Given the description of an element on the screen output the (x, y) to click on. 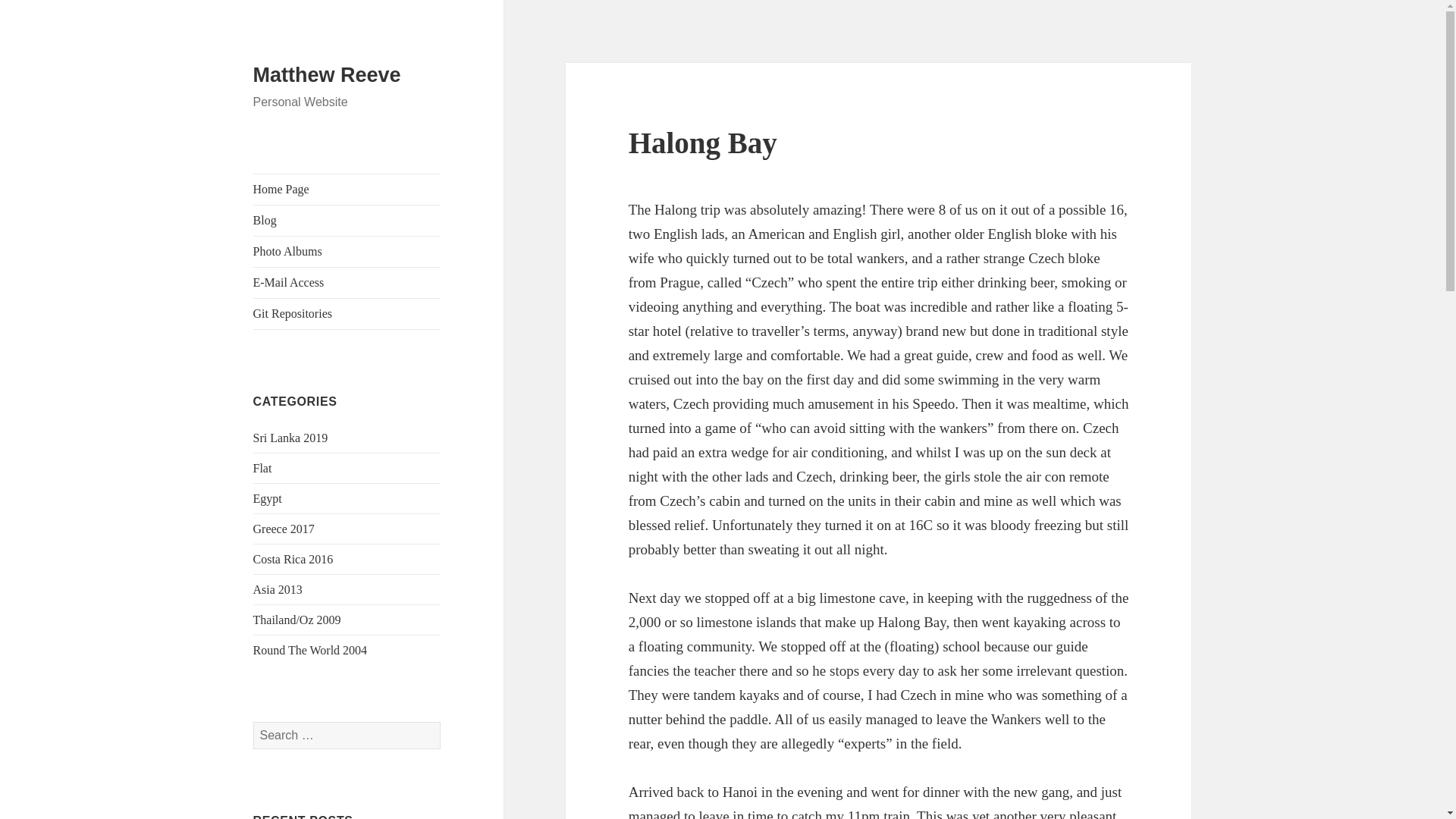
Round The World 2004 (310, 649)
Greece 2017 (283, 528)
Git Repositories (347, 313)
Asia 2013 (277, 589)
Matthew Reeve (327, 74)
Photo Albums (347, 251)
Home Page (347, 189)
Blog (347, 220)
Flat (262, 468)
Sri Lanka 2019 (291, 437)
Costa Rica 2016 (293, 558)
E-Mail Access (347, 282)
